Given the description of an element on the screen output the (x, y) to click on. 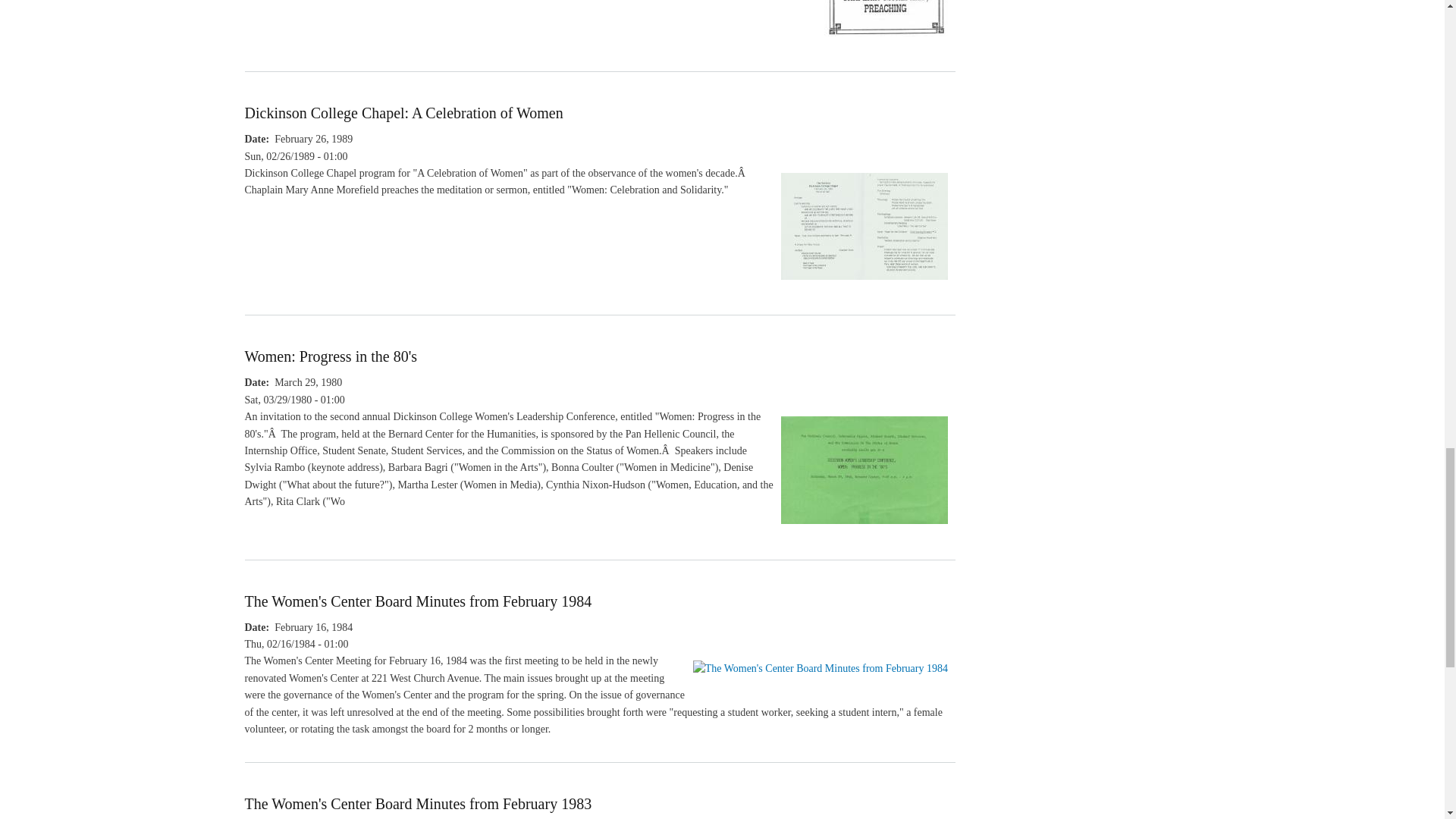
Women: Progress in the 80's (330, 356)
The Women's Center Board Minutes from February 1984 (417, 600)
The Women's Center Board Minutes from February 1983 (417, 803)
Dickinson College Chapel: A Celebration of Women (863, 286)
Dickinson College Chapel: A Celebration of Women (403, 112)
Women: Progress in the 80's (863, 531)
The Women's Center Board Minutes from February 1984 (820, 668)
